Given the description of an element on the screen output the (x, y) to click on. 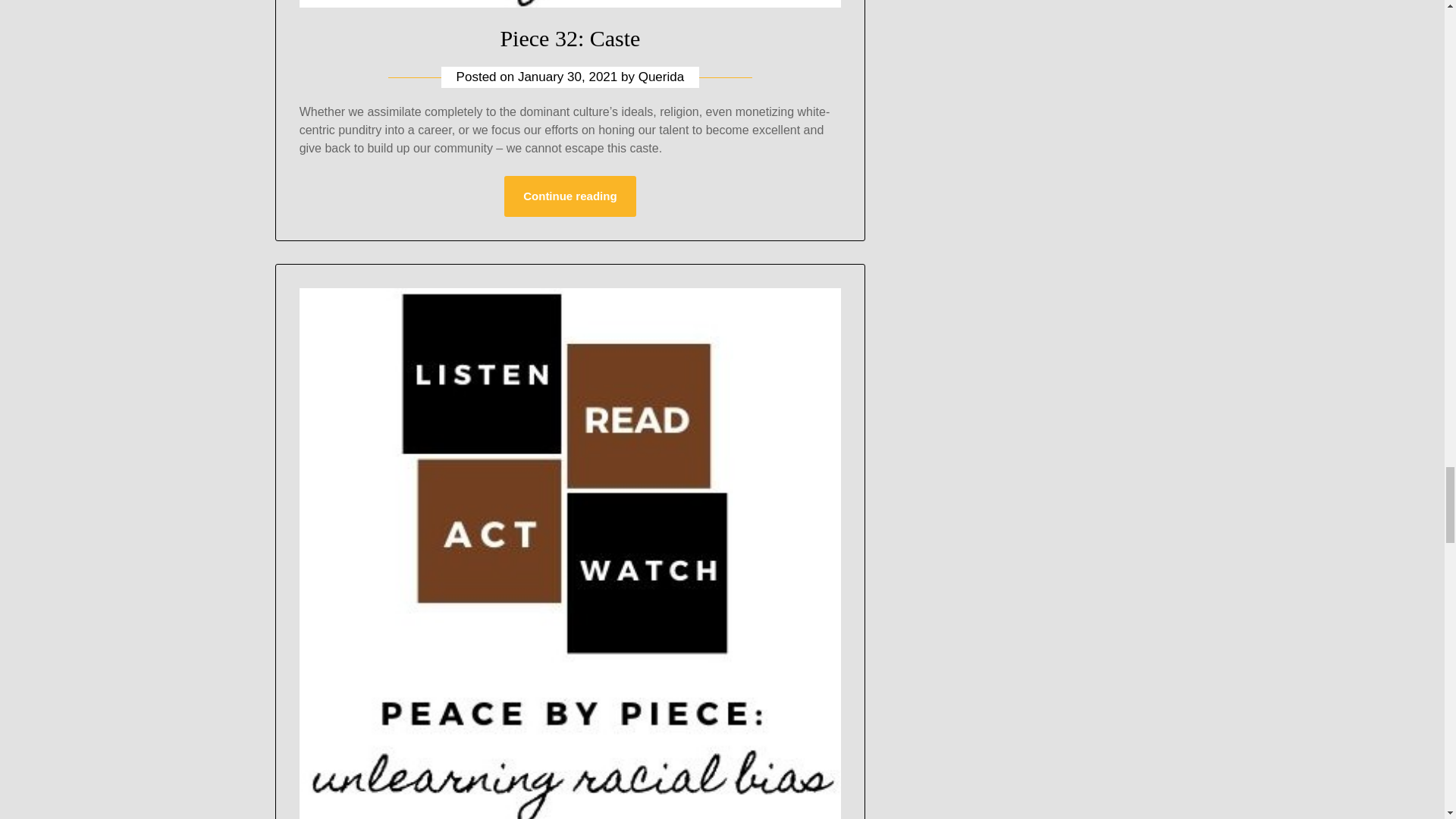
Continue reading (568, 196)
Piece 32: Caste (569, 37)
January 30, 2021 (567, 76)
Querida (661, 76)
